Given the description of an element on the screen output the (x, y) to click on. 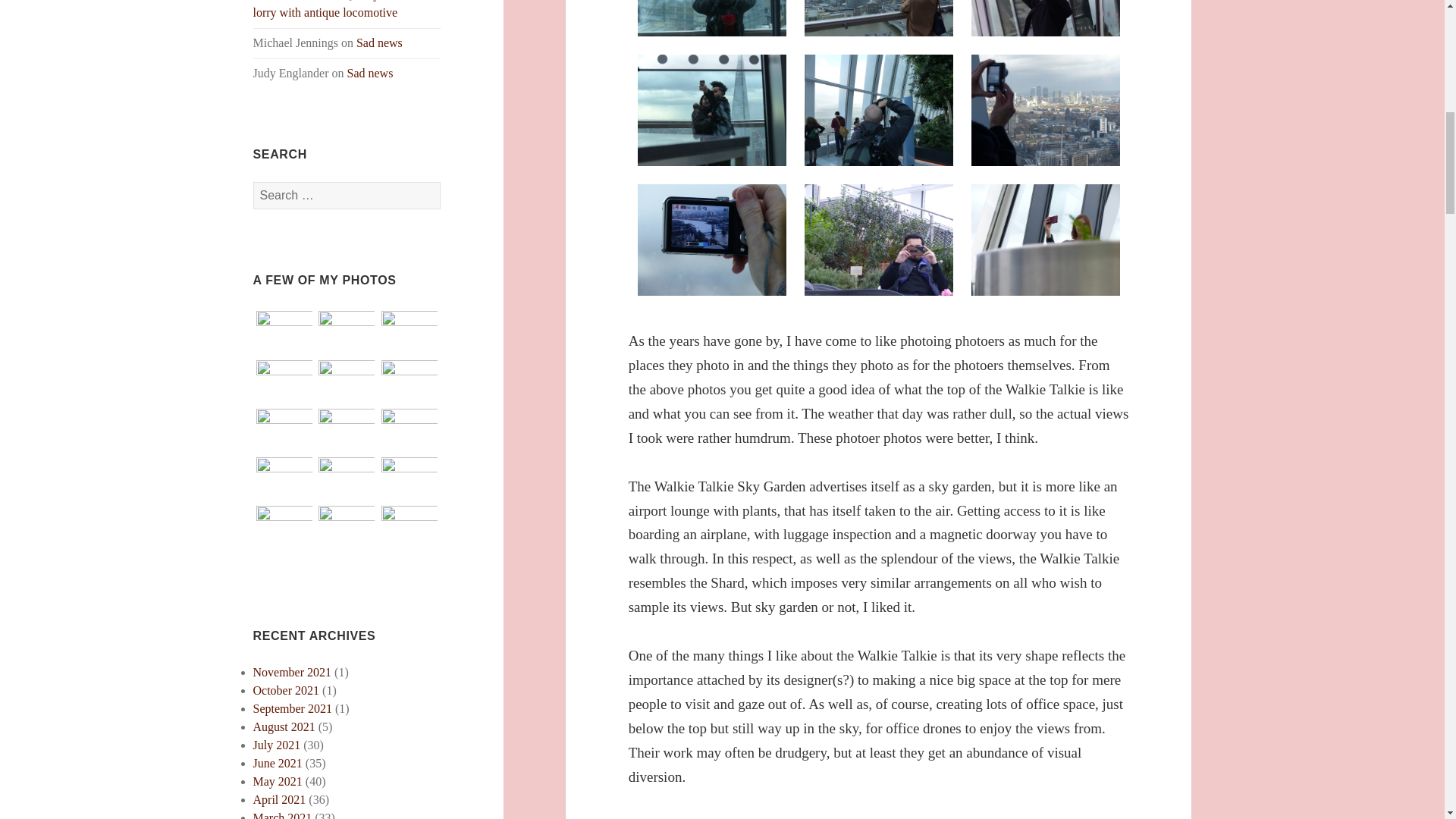
Sad news (370, 72)
Dutch Quality Flowers lorry with antique locomotive (337, 9)
Sad news (379, 42)
